Given the description of an element on the screen output the (x, y) to click on. 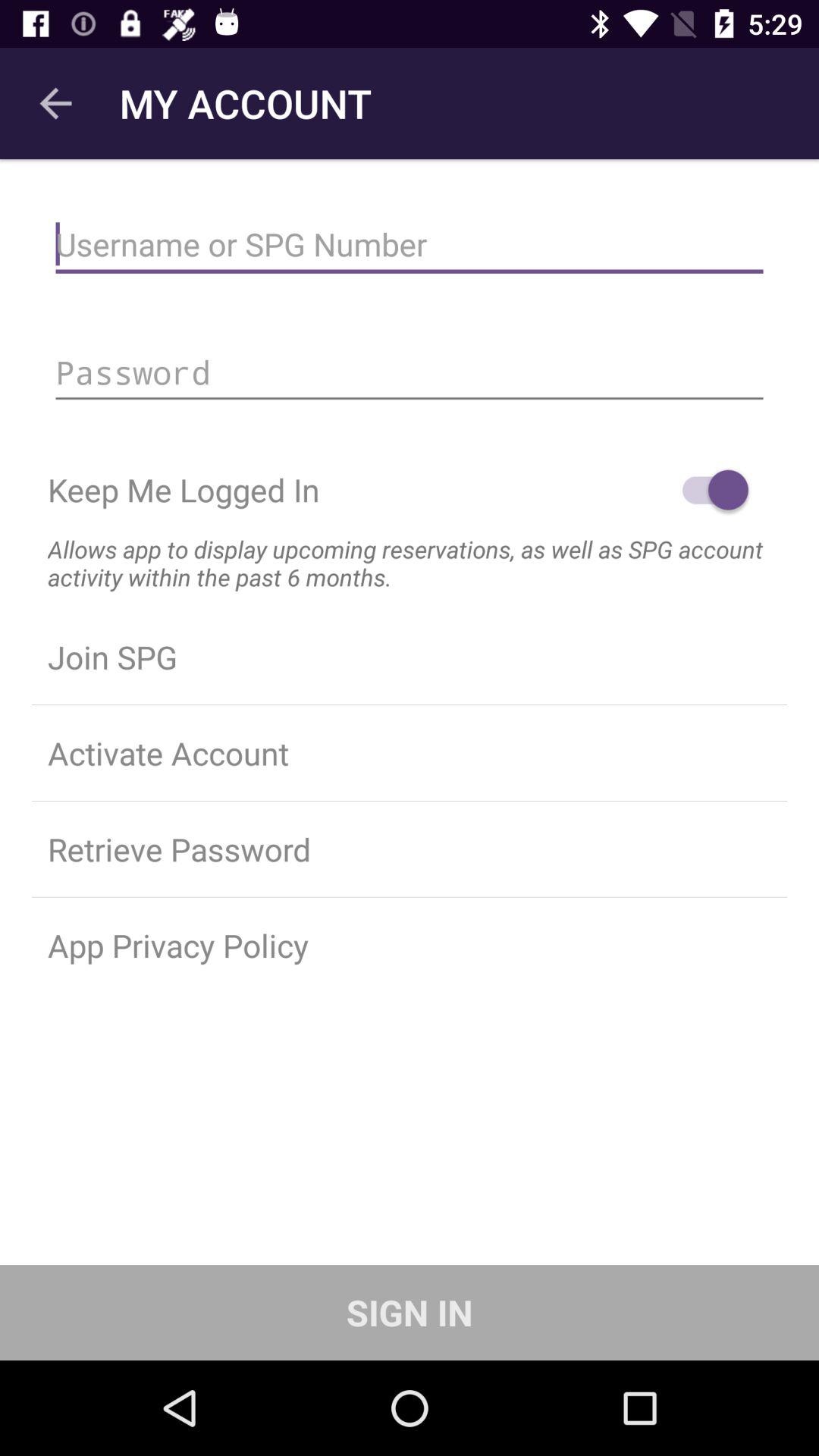
enter your password (409, 372)
